Given the description of an element on the screen output the (x, y) to click on. 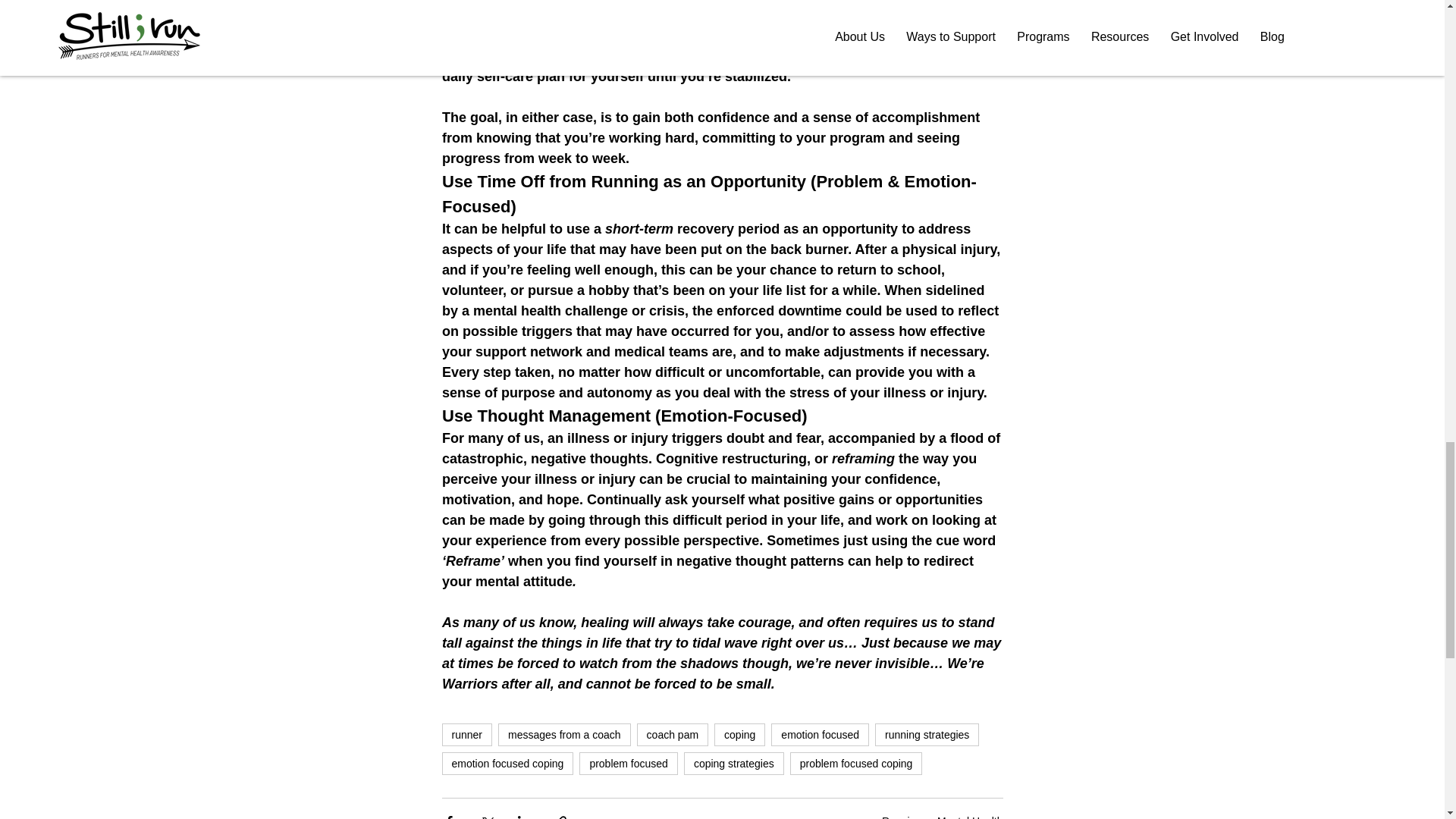
coping (739, 734)
runner (466, 734)
messages from a coach (563, 734)
coach pam (672, 734)
